Given the description of an element on the screen output the (x, y) to click on. 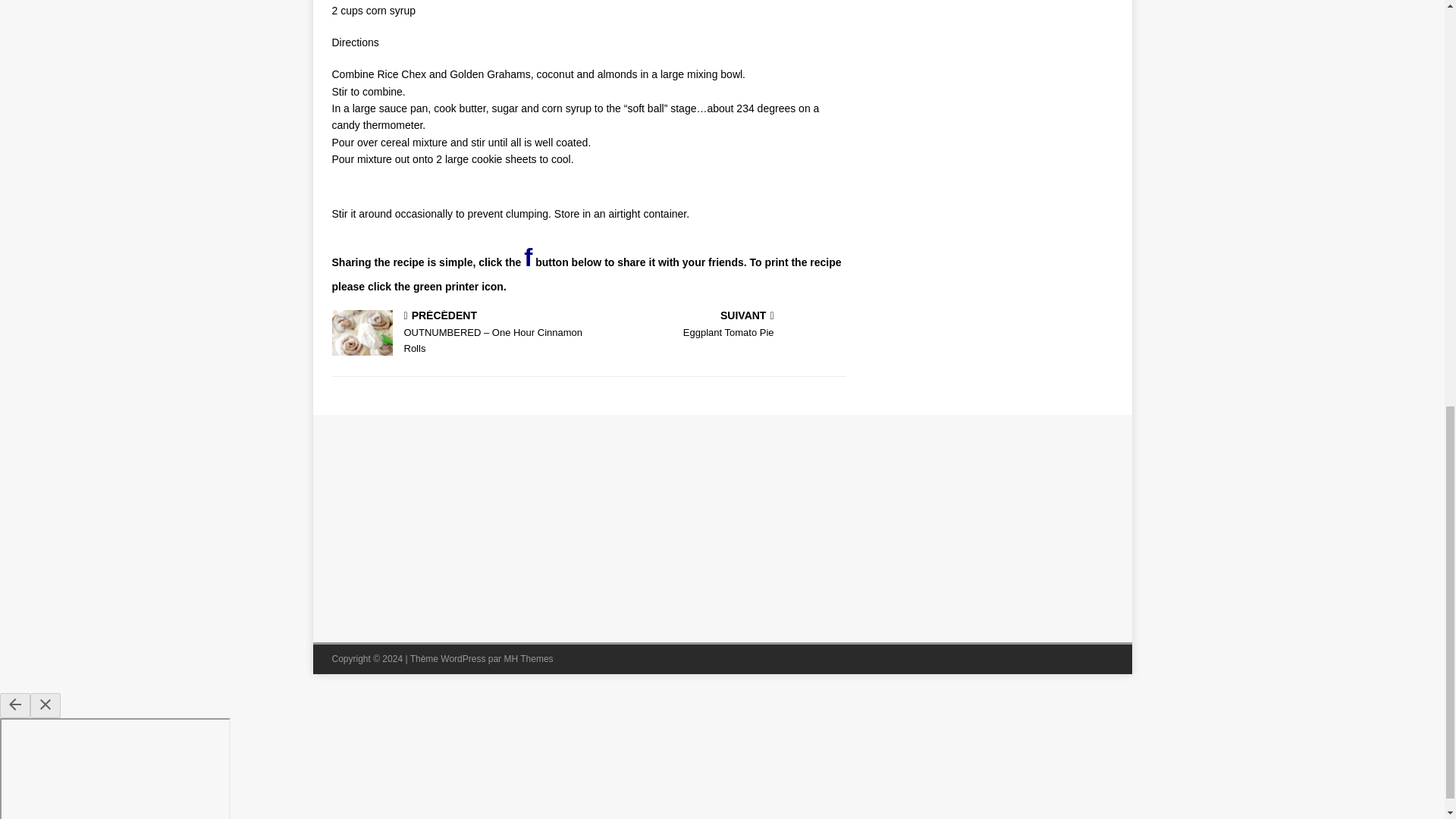
MH Themes (720, 325)
